Given the description of an element on the screen output the (x, y) to click on. 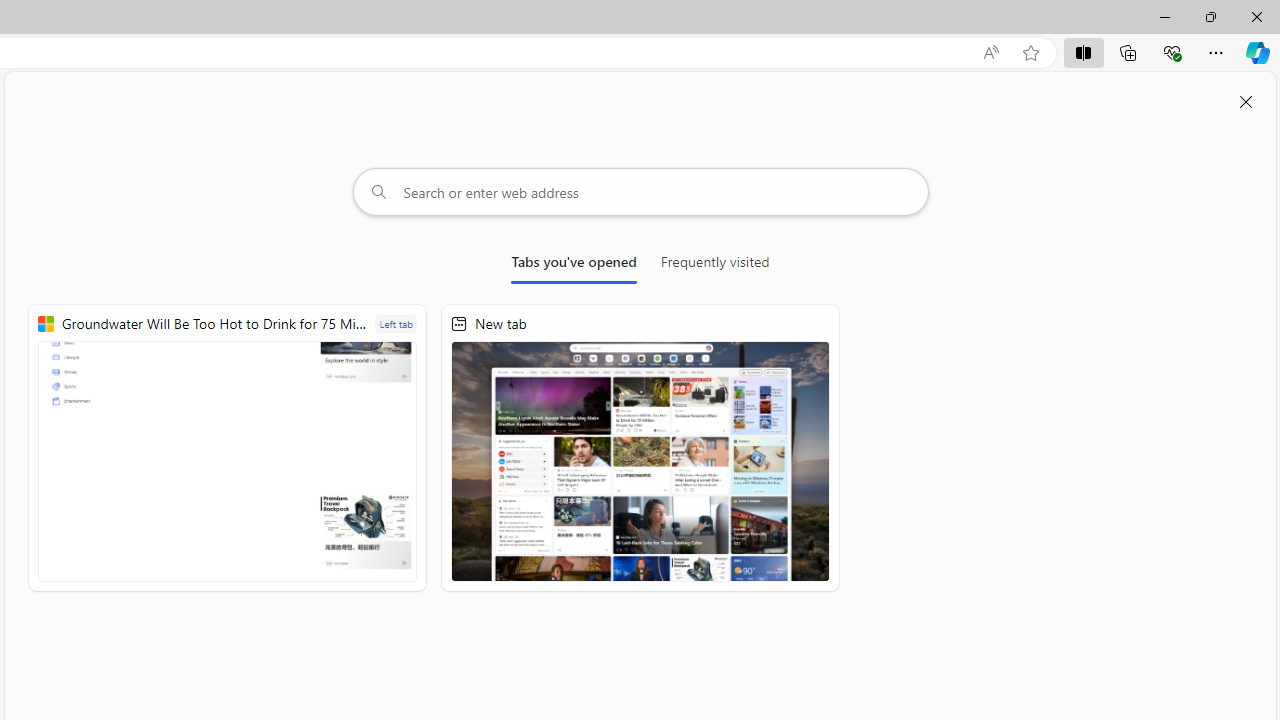
Restore (1210, 16)
Close (1256, 16)
New tab (639, 448)
Search or enter web address (640, 191)
Read aloud this page (Ctrl+Shift+U) (991, 53)
Close split screen (1245, 102)
Copilot (Ctrl+Shift+.) (1258, 52)
Frequently visited (715, 265)
Tabs you've opened (573, 265)
Add this page to favorites (Ctrl+D) (1030, 53)
Split screen (1083, 52)
Settings and more (Alt+F) (1215, 52)
Browser essentials (1171, 52)
Minimize (1164, 16)
